Given the description of an element on the screen output the (x, y) to click on. 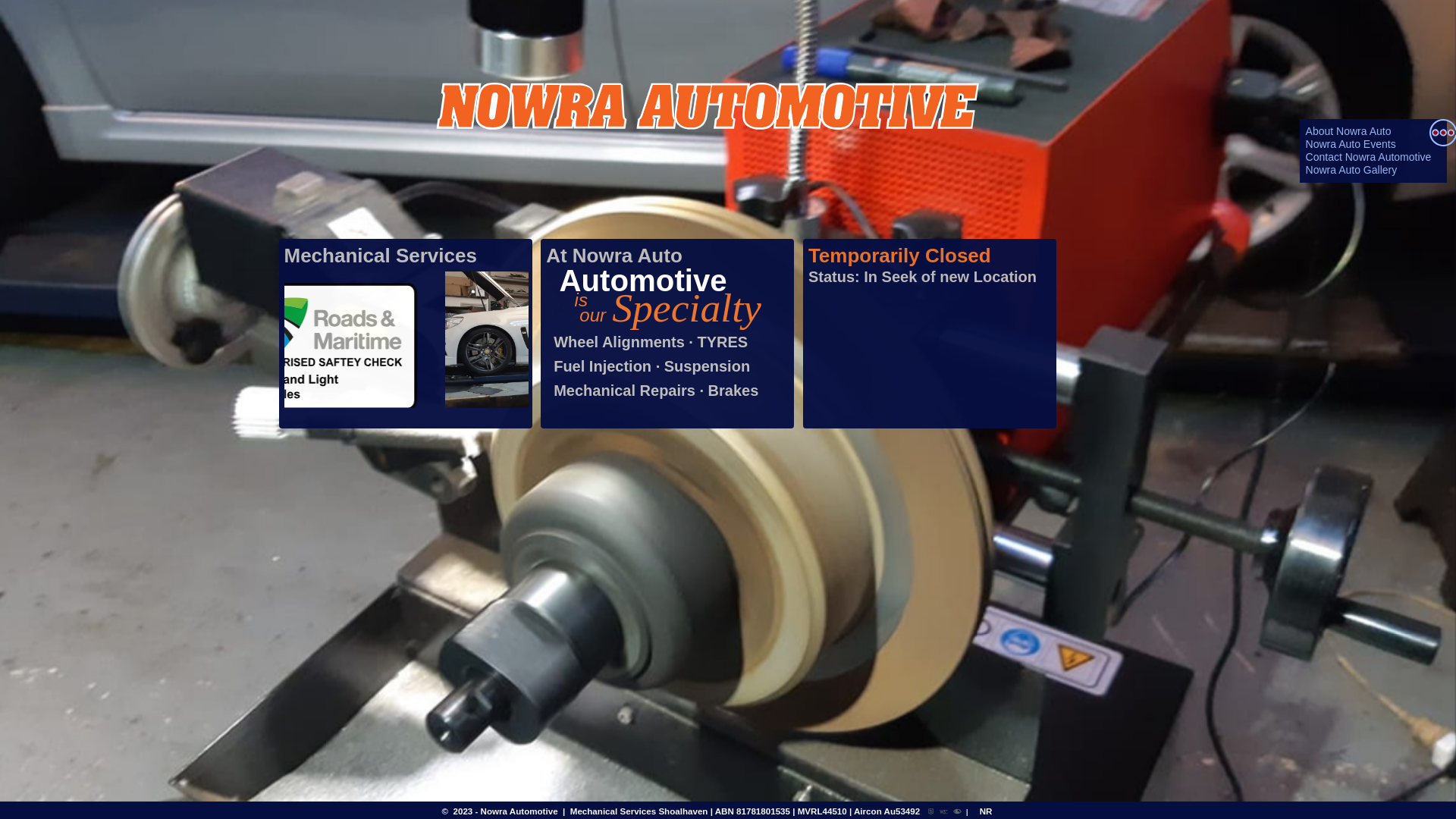
Nowra Automotive  is a HTML 5 compliant website Element type: hover (932, 811)
Nowra Automotive website is Retina display Ready Element type: hover (959, 811)
Temporarily Closed Element type: text (899, 255)
Nowra Automotive website conforms to the W3C standards Element type: hover (945, 811)
Nowra Auto Events Element type: text (1350, 144)
About Nowra Auto Element type: text (1348, 131)
At Nowra Auto Element type: text (614, 255)
Nowra Auto Gallery Element type: text (1351, 169)
Mechanical Services Element type: text (379, 255)
Contact Nowra Automotive Element type: text (1368, 156)
